Given the description of an element on the screen output the (x, y) to click on. 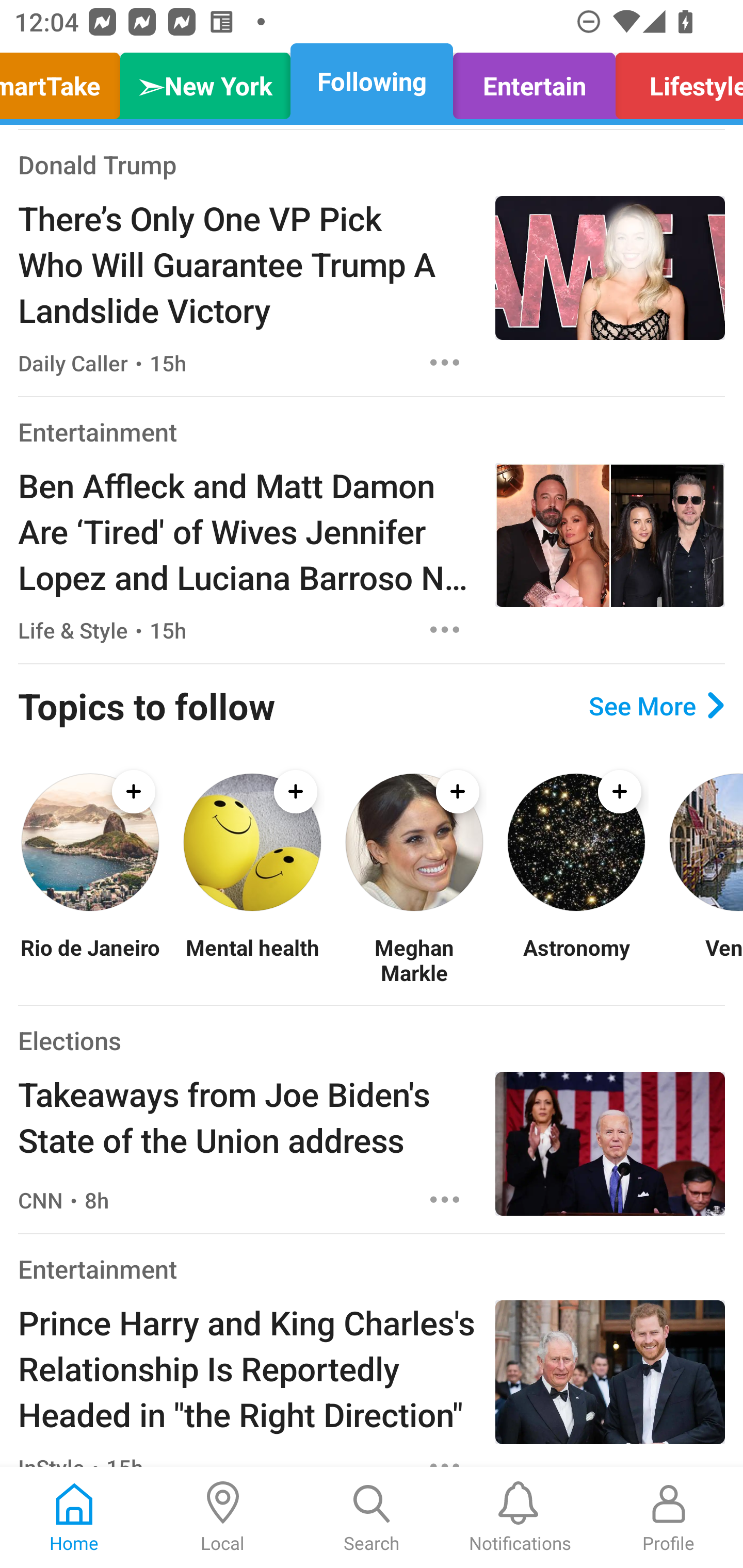
SmartTake (65, 81)
➣New York (205, 81)
Following (371, 81)
Entertain (534, 81)
Donald Trump (97, 164)
Options (444, 362)
Entertainment (97, 430)
Options (444, 629)
See More (656, 705)
Rio de Janeiro (89, 959)
Mental health (251, 959)
Meghan Markle (413, 959)
Astronomy (575, 959)
Elections (69, 1039)
Options (444, 1199)
Entertainment (97, 1268)
Local (222, 1517)
Search (371, 1517)
Notifications (519, 1517)
Profile (668, 1517)
